Given the description of an element on the screen output the (x, y) to click on. 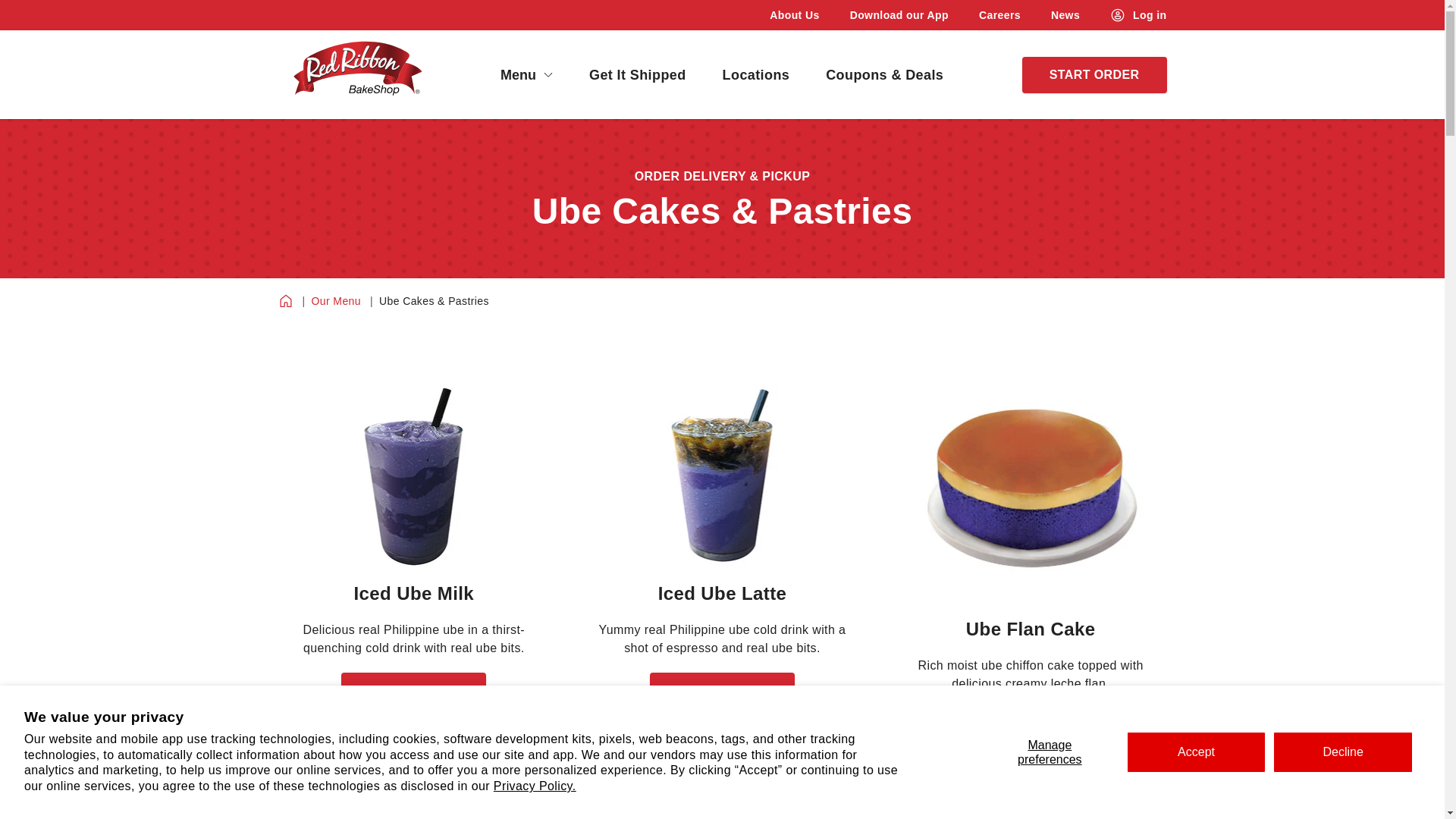
Careers (999, 15)
About Us (794, 15)
News (1065, 15)
Accept (1196, 752)
Manage preferences (1049, 752)
Log in (1137, 15)
Decline (1342, 752)
Privacy Policy. (534, 785)
Home (285, 300)
Red Ribbon Bakeshop (357, 74)
Download our App (899, 15)
